Given the description of an element on the screen output the (x, y) to click on. 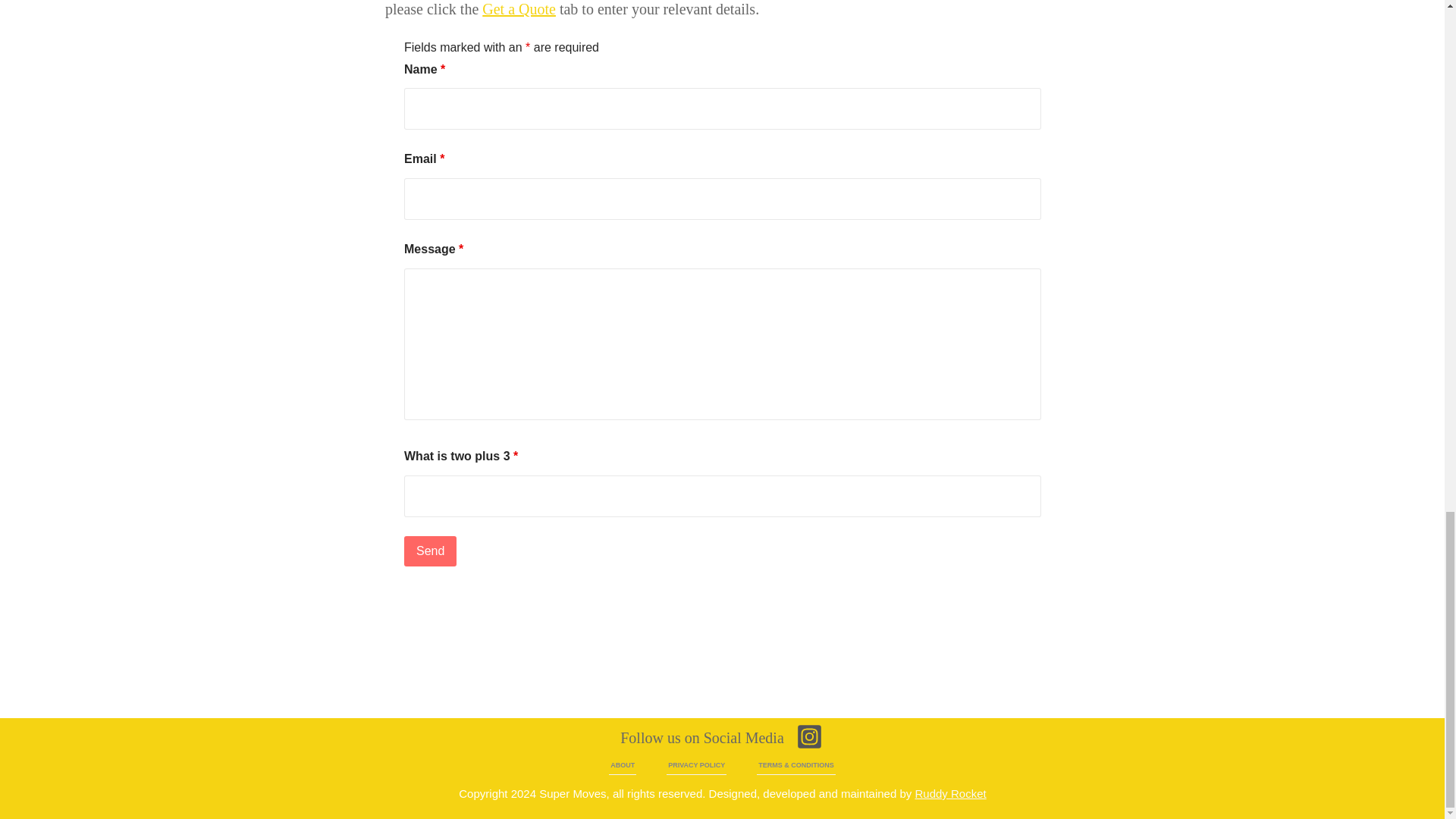
Ruddy Rocket (949, 793)
Get a Quote (518, 8)
Send (430, 551)
ABOUT (622, 765)
Send (430, 551)
PRIVACY POLICY (696, 765)
